Given the description of an element on the screen output the (x, y) to click on. 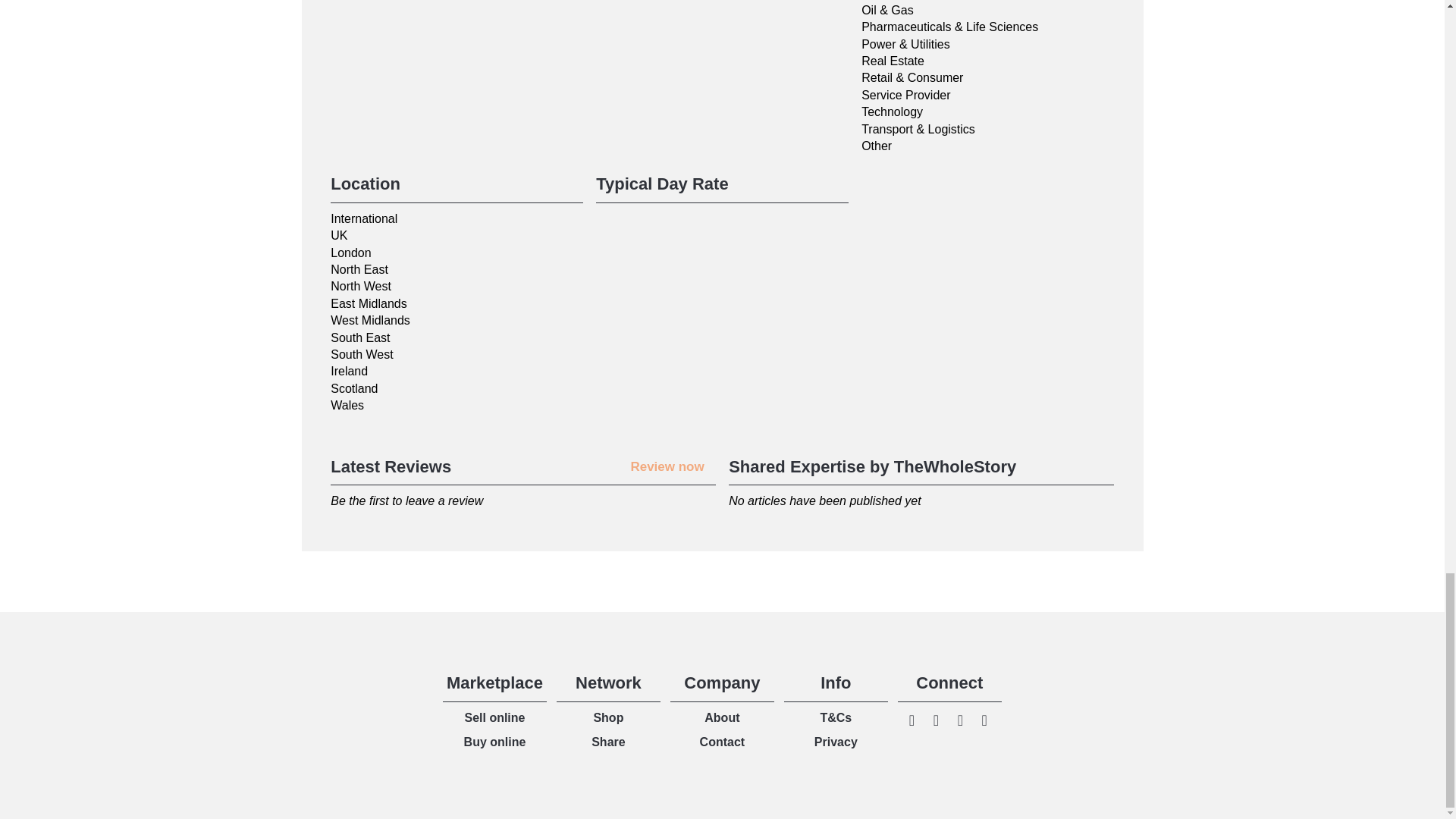
Buy online (494, 741)
Review now (666, 466)
Share (607, 741)
About (721, 717)
Privacy (835, 741)
Shop (607, 717)
Contact (722, 741)
Sell online (494, 717)
